Given the description of an element on the screen output the (x, y) to click on. 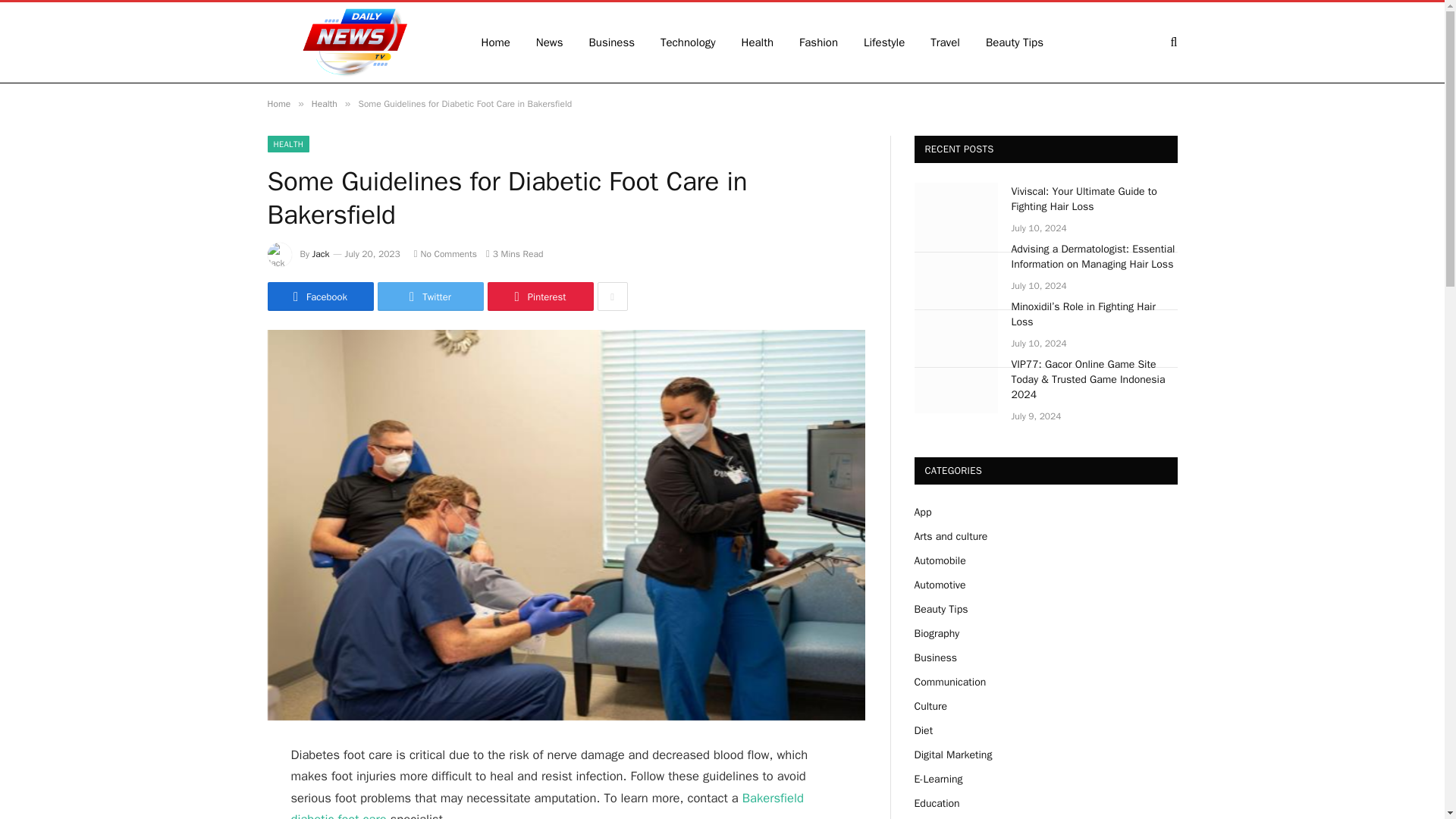
Jack (321, 254)
Health (324, 103)
Pinterest (539, 296)
Bakersfield diabetic foot care (547, 804)
Posts by Jack (321, 254)
Twitter (430, 296)
Home (277, 103)
Business (611, 42)
Dailynewstv.co (353, 42)
Share on Facebook (319, 296)
Facebook (319, 296)
Beauty Tips (1014, 42)
Technology (688, 42)
Share on Pinterest (539, 296)
